Given the description of an element on the screen output the (x, y) to click on. 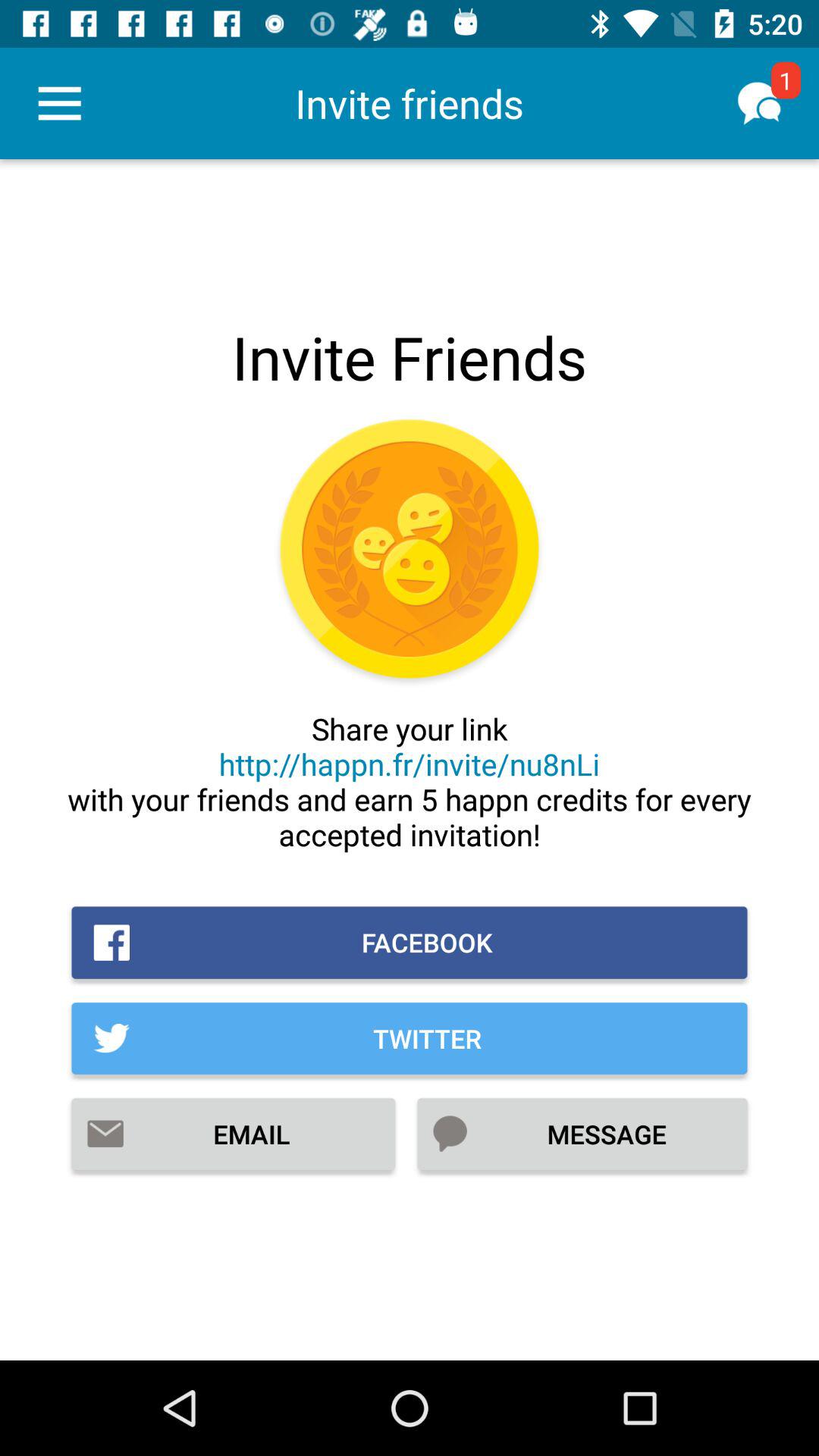
tap the item to the right of email item (582, 1133)
